Given the description of an element on the screen output the (x, y) to click on. 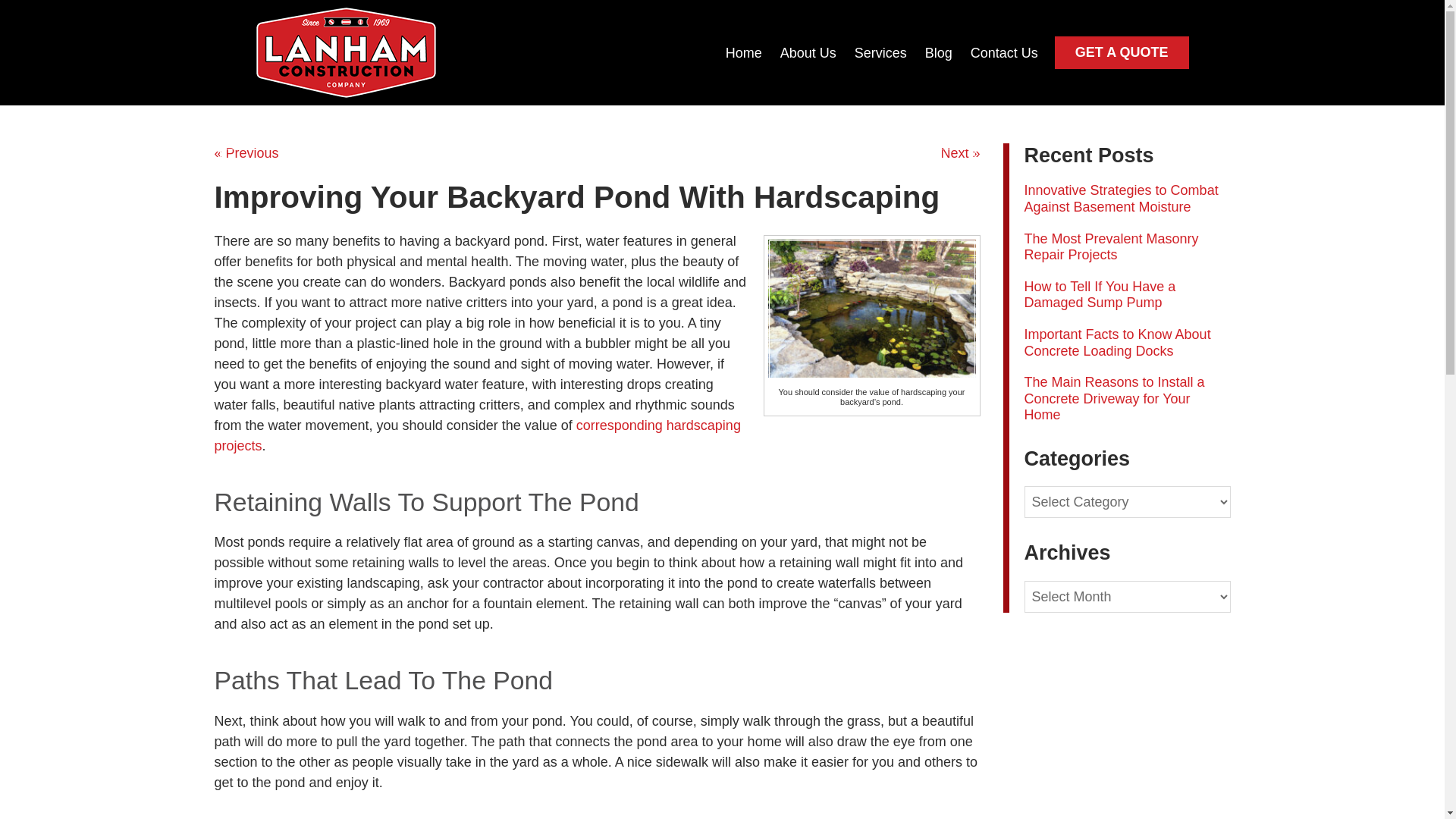
Innovative Strategies to Combat Against Basement Moisture (1120, 198)
GET A QUOTE (1121, 52)
Services (880, 52)
The Most Prevalent Masonry Repair Projects (1110, 246)
How to Tell If You Have a Damaged Sump Pump (1098, 295)
corresponding hardscaping projects (476, 435)
About Us (808, 52)
Lanham Construction (345, 52)
Home (743, 52)
Blog (937, 52)
Contact Us (1003, 52)
Important Facts to Know About Concrete Loading Docks (1116, 342)
